Given the description of an element on the screen output the (x, y) to click on. 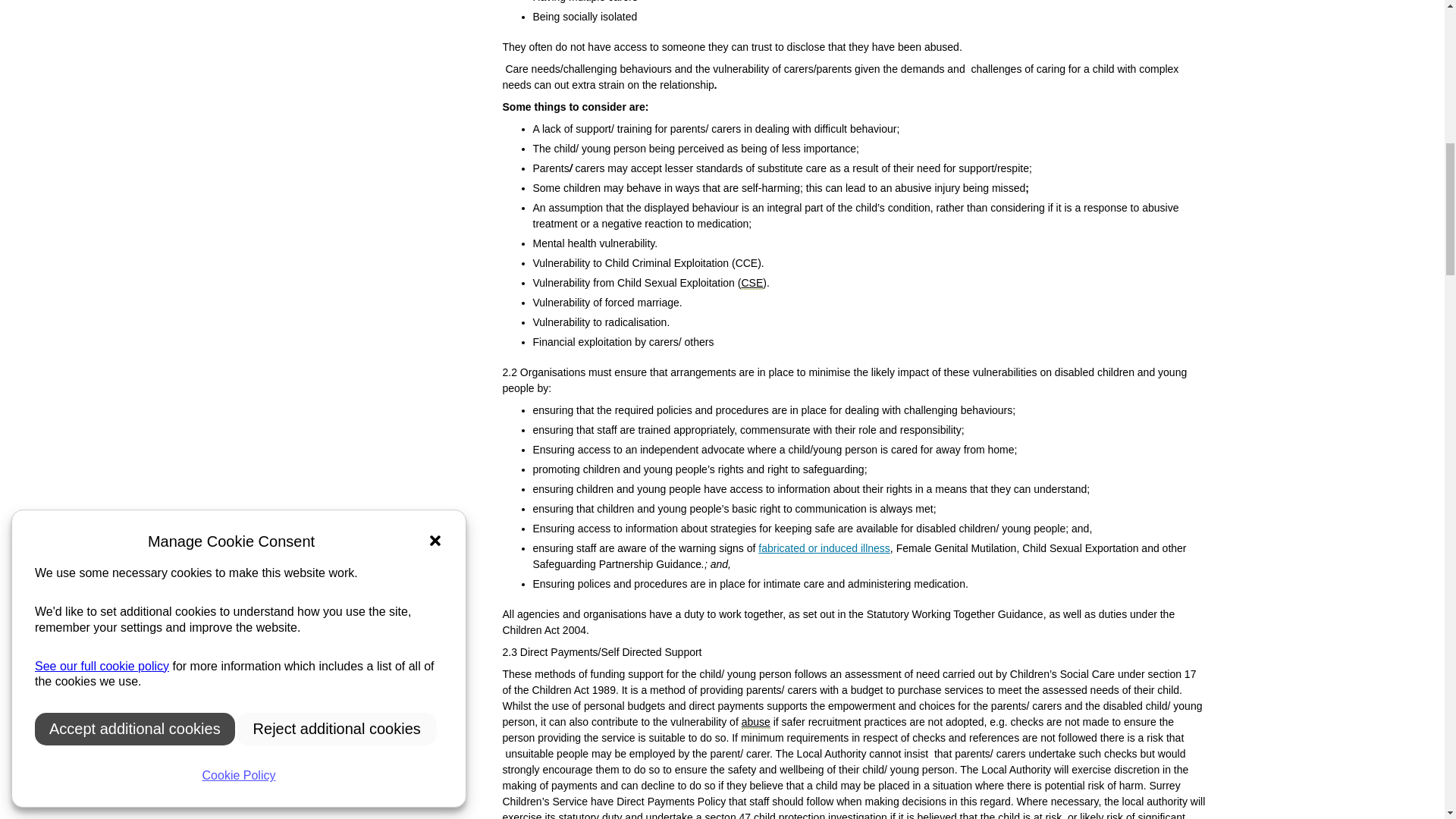
fabricated or induced illness (823, 548)
abuse (755, 721)
CSE (751, 282)
